Given the description of an element on the screen output the (x, y) to click on. 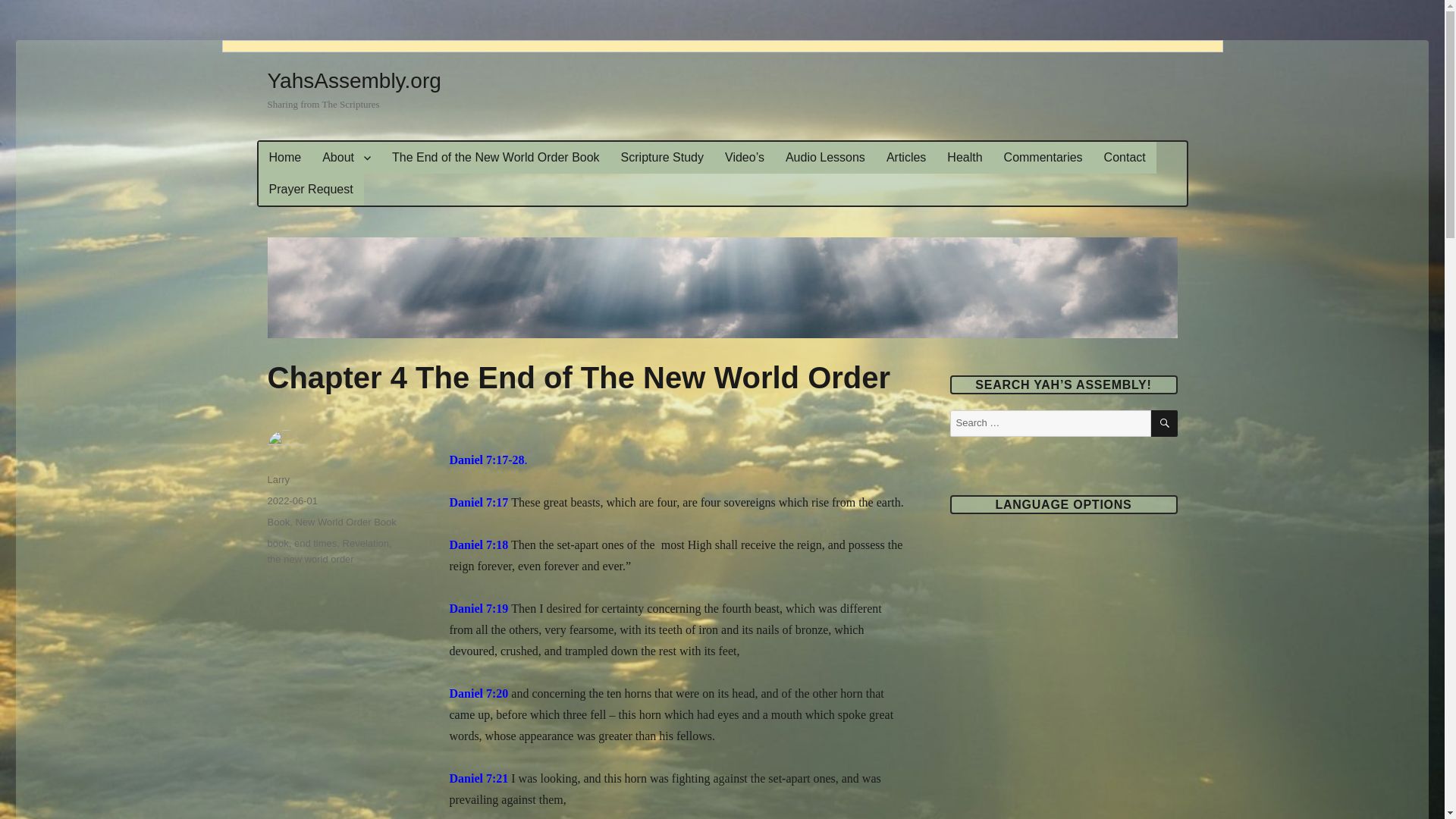
Health (964, 157)
About (346, 157)
Scripture Study (662, 157)
Prayer Request (309, 189)
Home (284, 157)
Contact (1124, 157)
Articles (906, 157)
YahsAssembly.org (353, 80)
Audio Lessons (825, 157)
The End of the New World Order Book (495, 157)
